Given the description of an element on the screen output the (x, y) to click on. 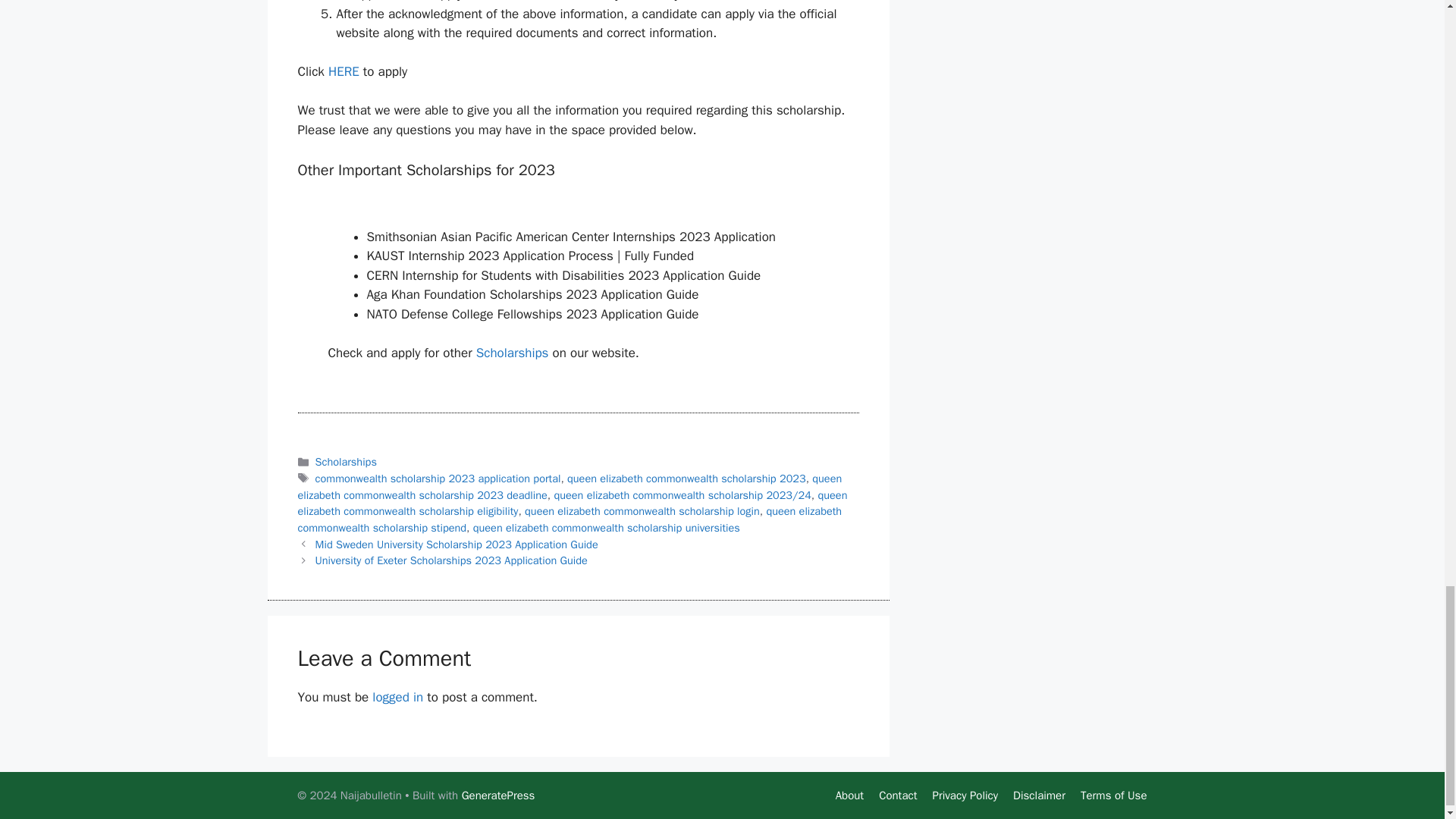
queen elizabeth commonwealth scholarship 2023 (686, 478)
About (849, 795)
HERE (345, 71)
commonwealth scholarship 2023 application portal (437, 478)
Terms of Use (1113, 795)
Scholarships (512, 352)
queen elizabeth commonwealth scholarship eligibility (572, 503)
queen elizabeth commonwealth scholarship stipend (569, 519)
